Given the description of an element on the screen output the (x, y) to click on. 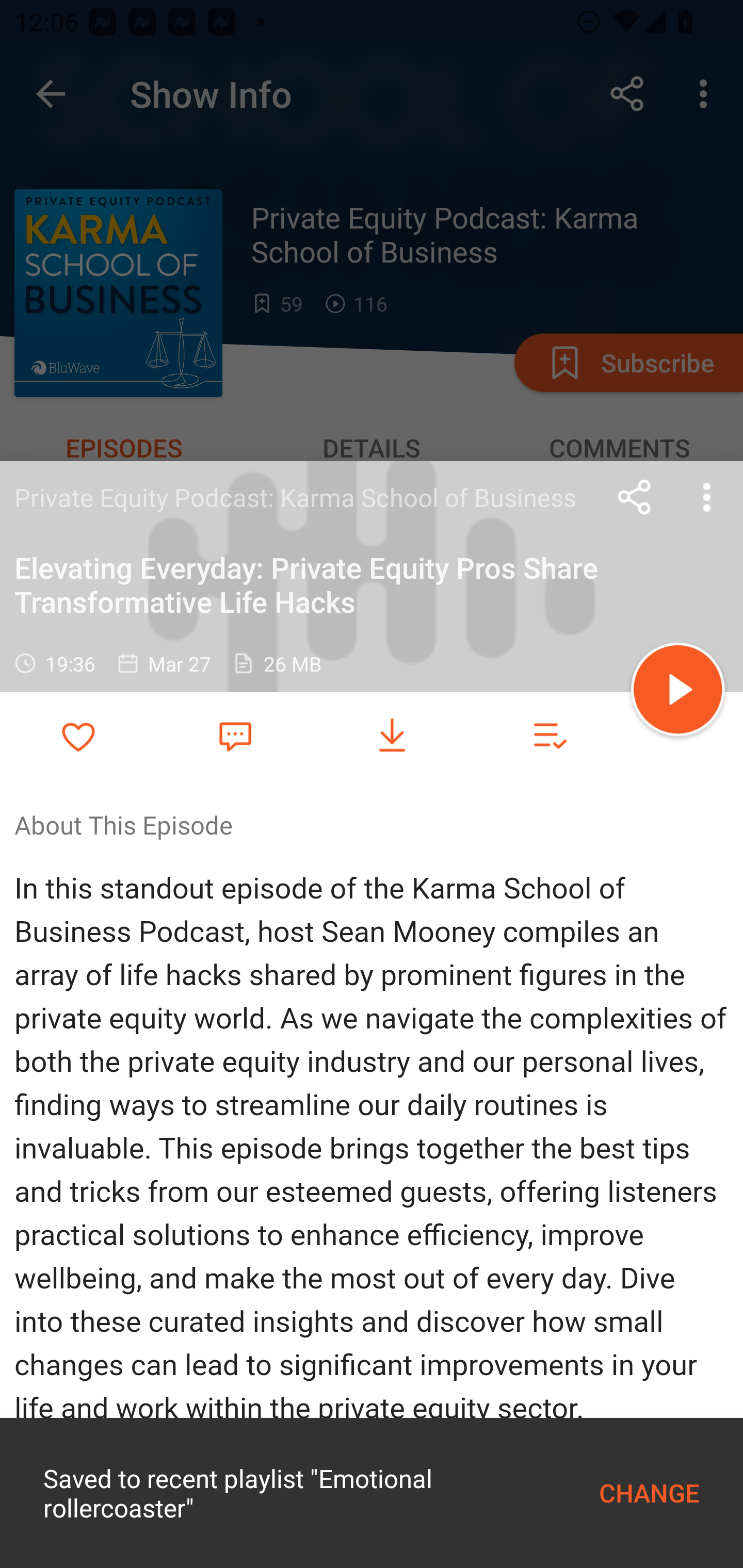
Share (634, 496)
more options (706, 496)
Play (677, 692)
Favorite (234, 735)
Add to Favorites (78, 735)
Download (391, 735)
Add to playlist (548, 735)
CHANGE (648, 1492)
